Given the description of an element on the screen output the (x, y) to click on. 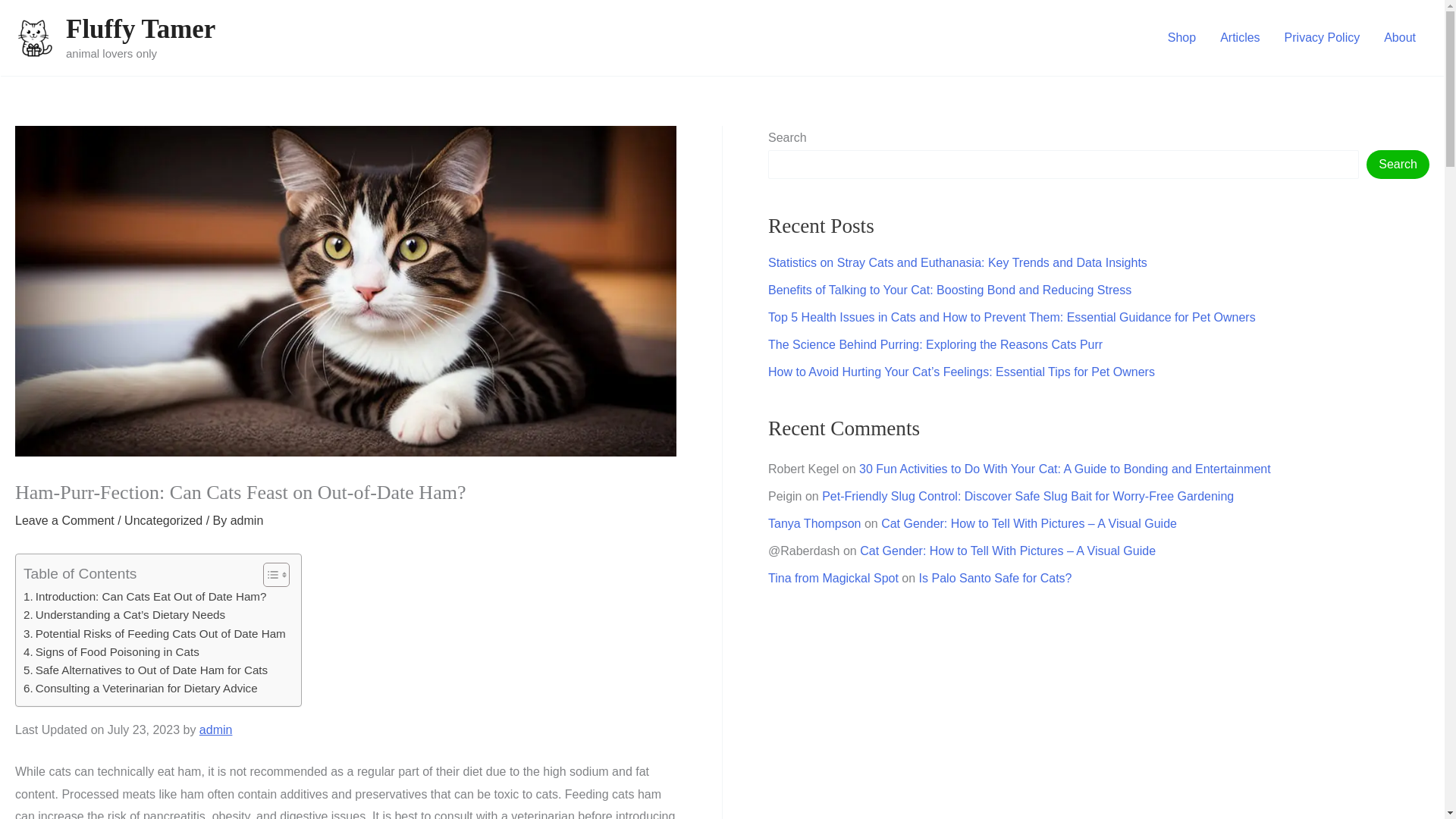
Safe Alternatives to Out of Date Ham for Cats (145, 669)
Potential Risks of Feeding Cats Out of Date Ham (154, 633)
Fluffy Tamer (140, 29)
Signs of Food Poisoning in Cats (111, 651)
Privacy Policy (1322, 37)
Signs of Food Poisoning in Cats (111, 651)
Articles (1239, 37)
Introduction: Can Cats Eat Out of Date Ham? (144, 597)
admin (215, 729)
Introduction: Can Cats Eat Out of Date Ham? (144, 597)
Safe Alternatives to Out of Date Ham for Cats (145, 669)
About (1399, 37)
Shop (1182, 37)
